Given the description of an element on the screen output the (x, y) to click on. 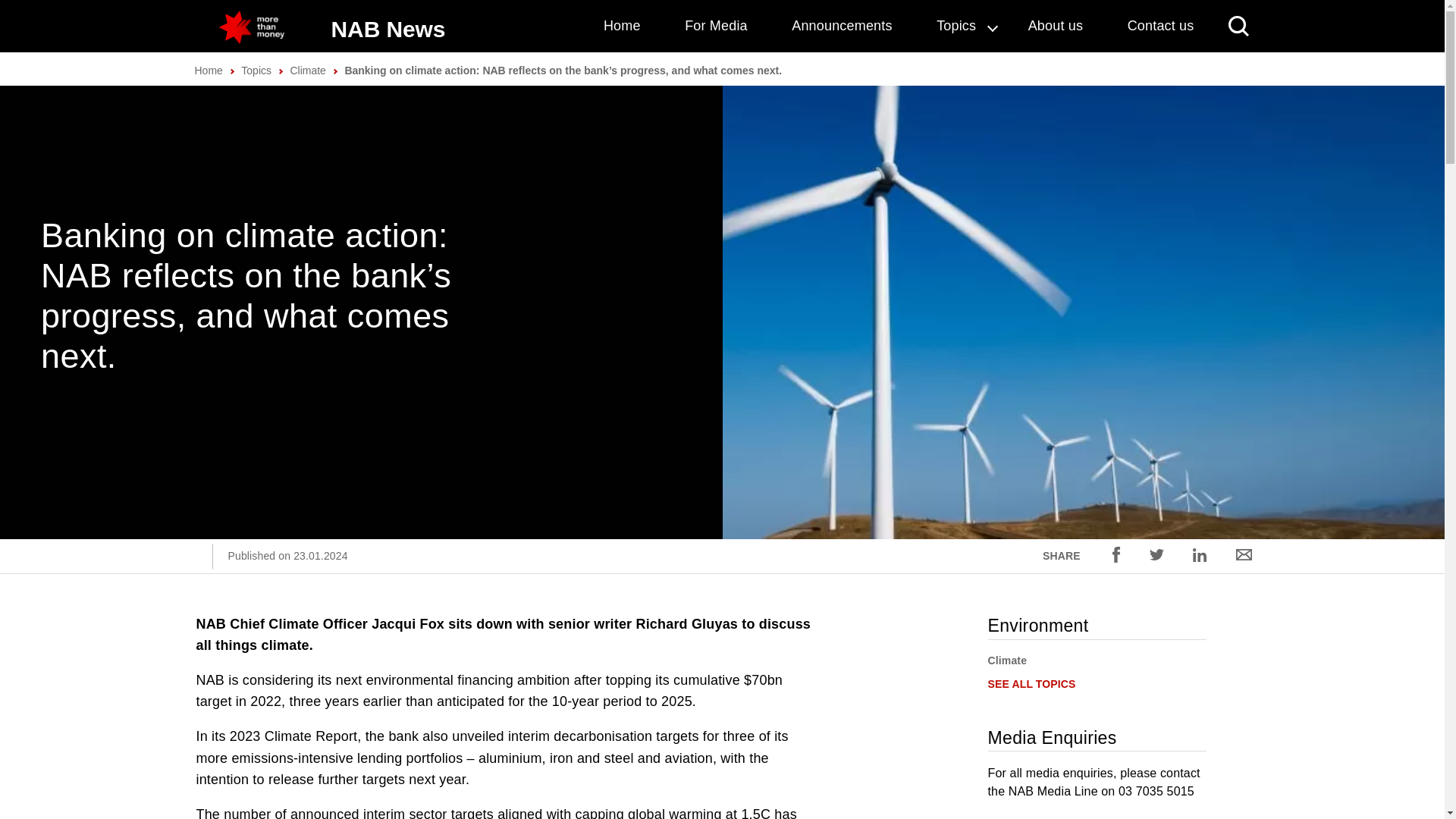
Announcements (841, 26)
Topics (255, 70)
NAB News (387, 28)
Climate (1006, 660)
For Media (715, 26)
Home (207, 70)
Climate (306, 70)
About us (1055, 26)
SEE ALL TOPICS (1031, 684)
Home (622, 26)
Contact us (1160, 26)
Topics (959, 26)
